Given the description of an element on the screen output the (x, y) to click on. 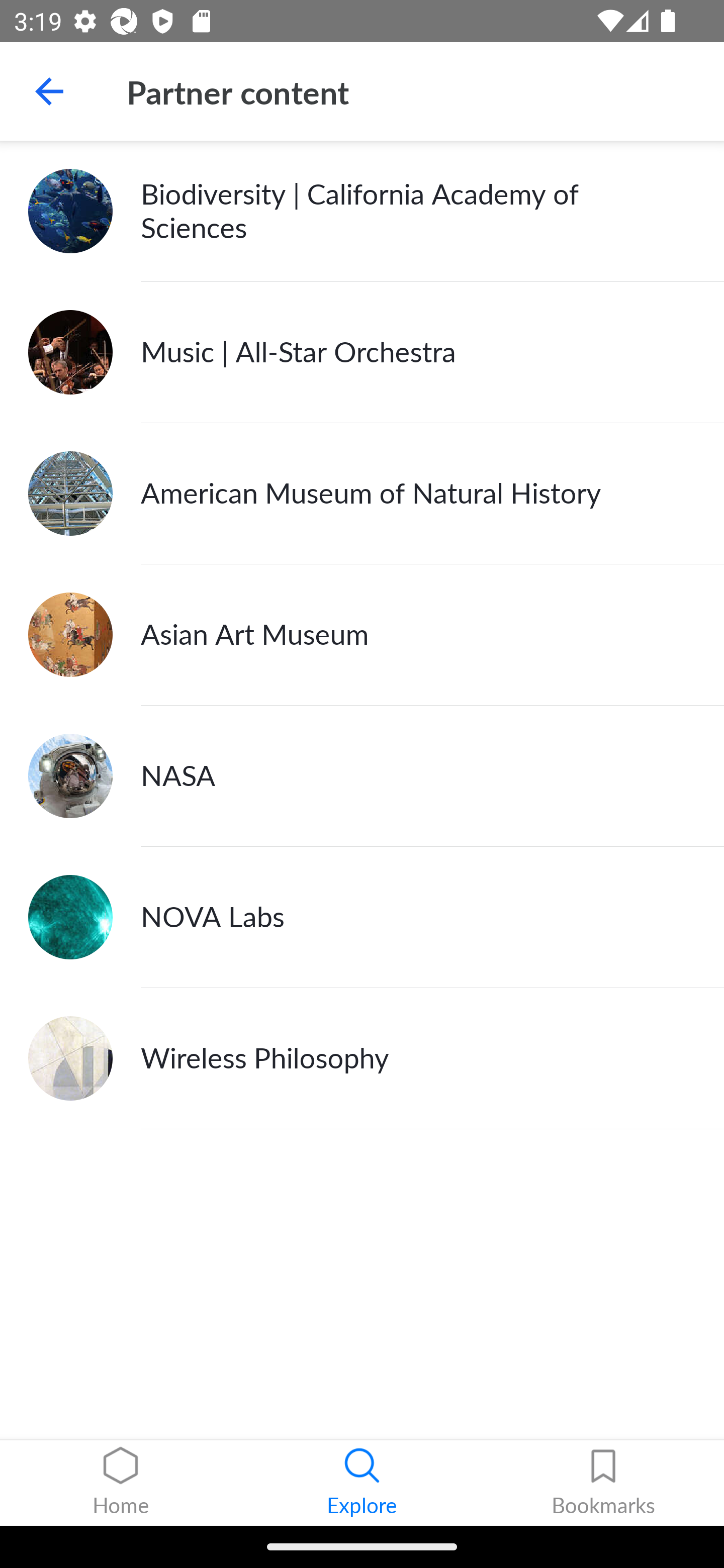
Navigate up (49, 91)
Biodiversity | California Academy of Sciences (362, 211)
Music | All-Star Orchestra (362, 352)
American Museum of Natural History (362, 493)
Asian Art Museum (362, 634)
NASA (362, 775)
NOVA Labs (362, 916)
Wireless Philosophy (362, 1057)
Home (120, 1482)
Explore (361, 1482)
Bookmarks (603, 1482)
